Given the description of an element on the screen output the (x, y) to click on. 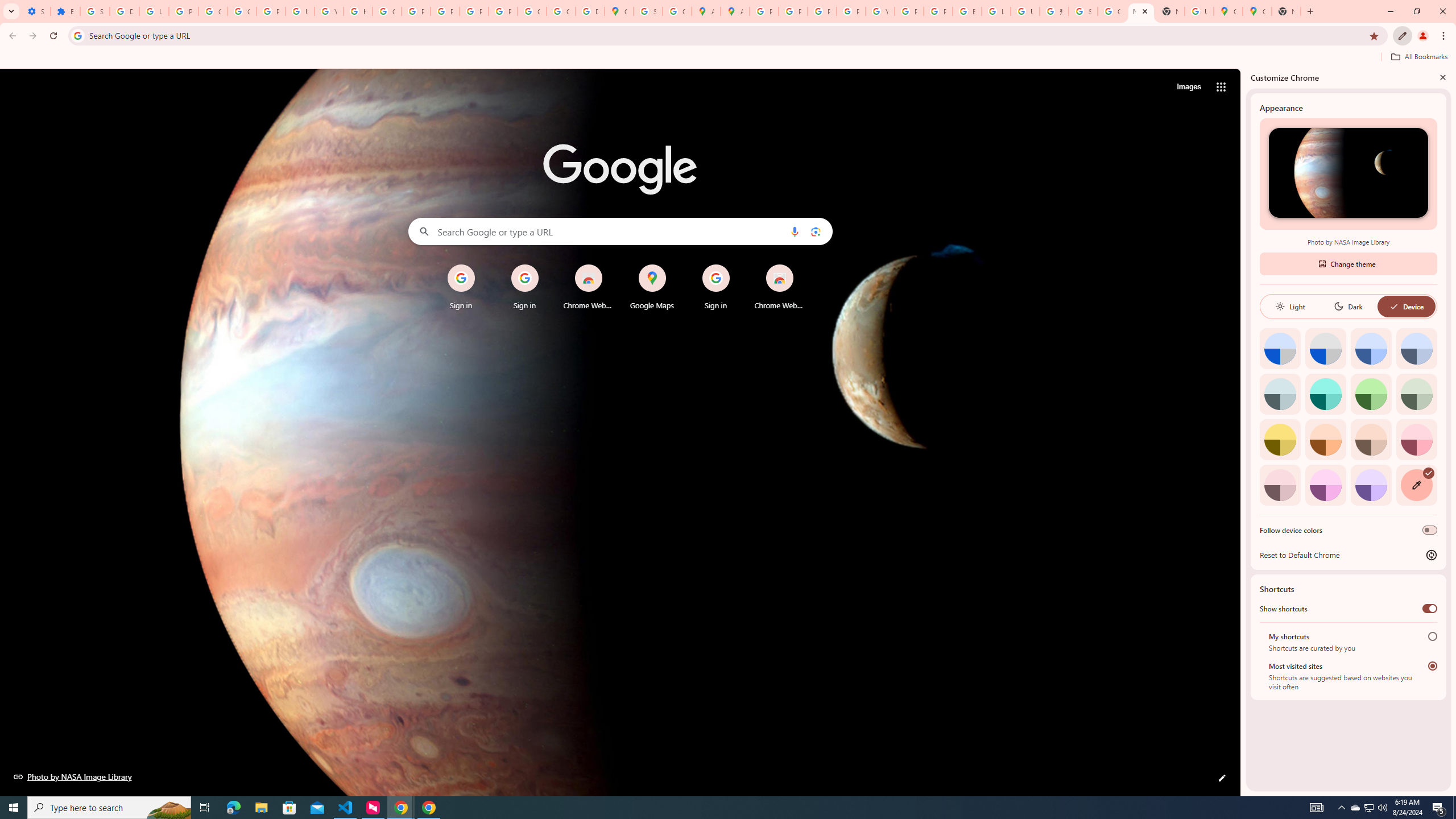
Customize this page (1221, 778)
Citron (1279, 439)
Sign in - Google Accounts (1082, 11)
https://scholar.google.com/ (357, 11)
Privacy Help Center - Policies Help (792, 11)
Grey (1279, 393)
Most visited sites (1432, 665)
